Given the description of an element on the screen output the (x, y) to click on. 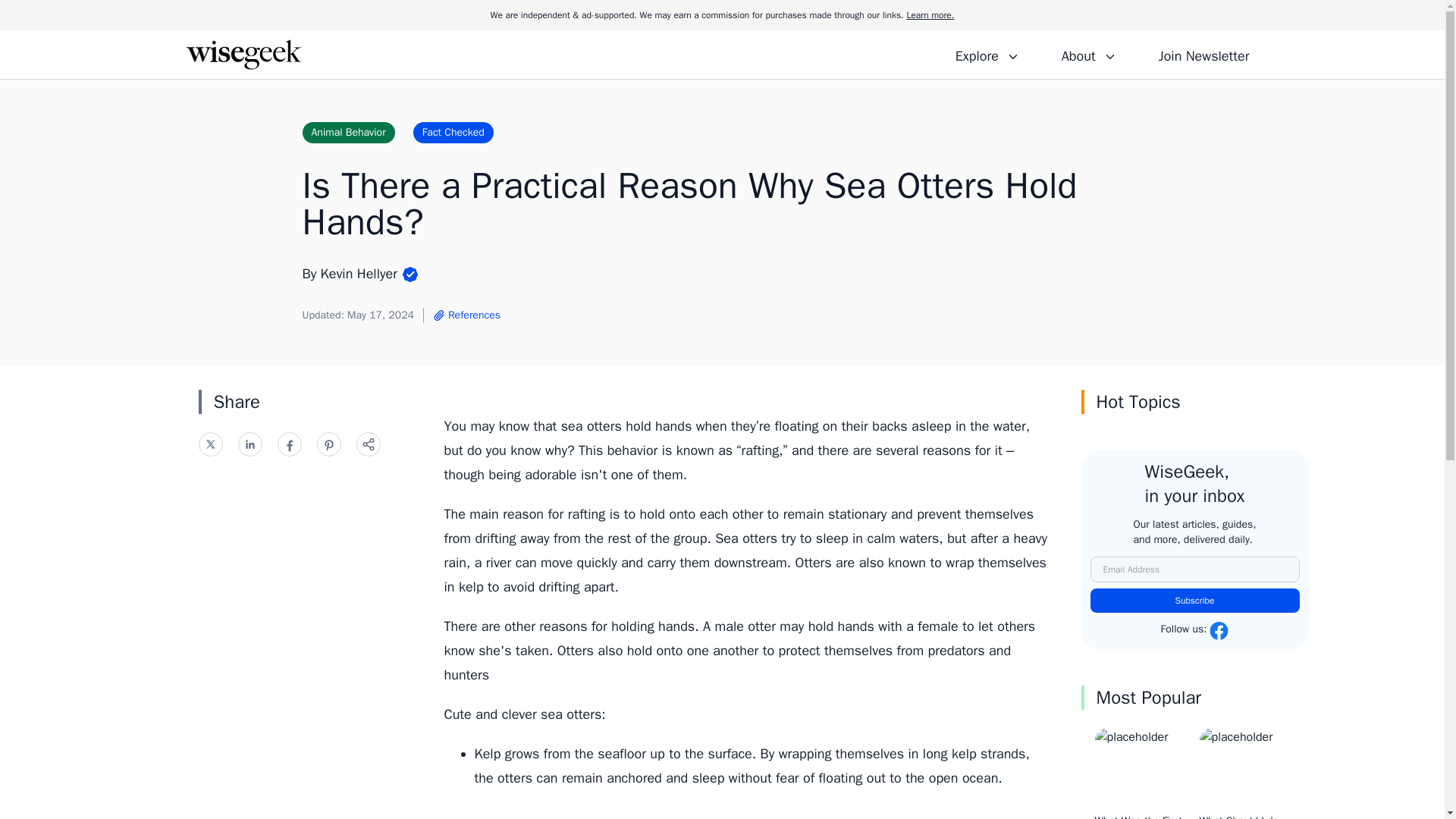
About (1088, 54)
References (466, 314)
Join Newsletter (1202, 54)
Fact Checked (453, 132)
Follow us: (1194, 630)
Animal Behavior (347, 132)
Learn more. (929, 15)
Explore (986, 54)
Subscribe (1195, 600)
